Given the description of an element on the screen output the (x, y) to click on. 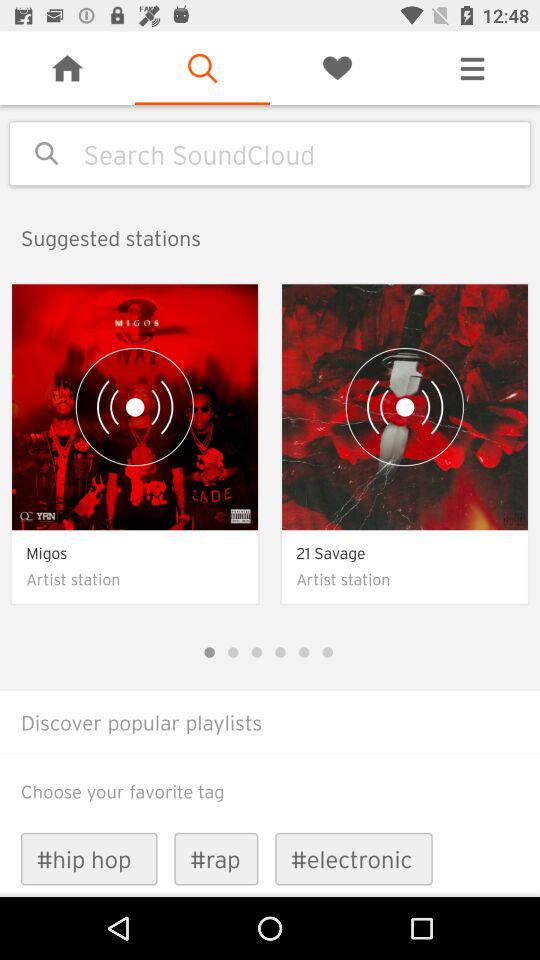
select the #rap item (216, 858)
